Given the description of an element on the screen output the (x, y) to click on. 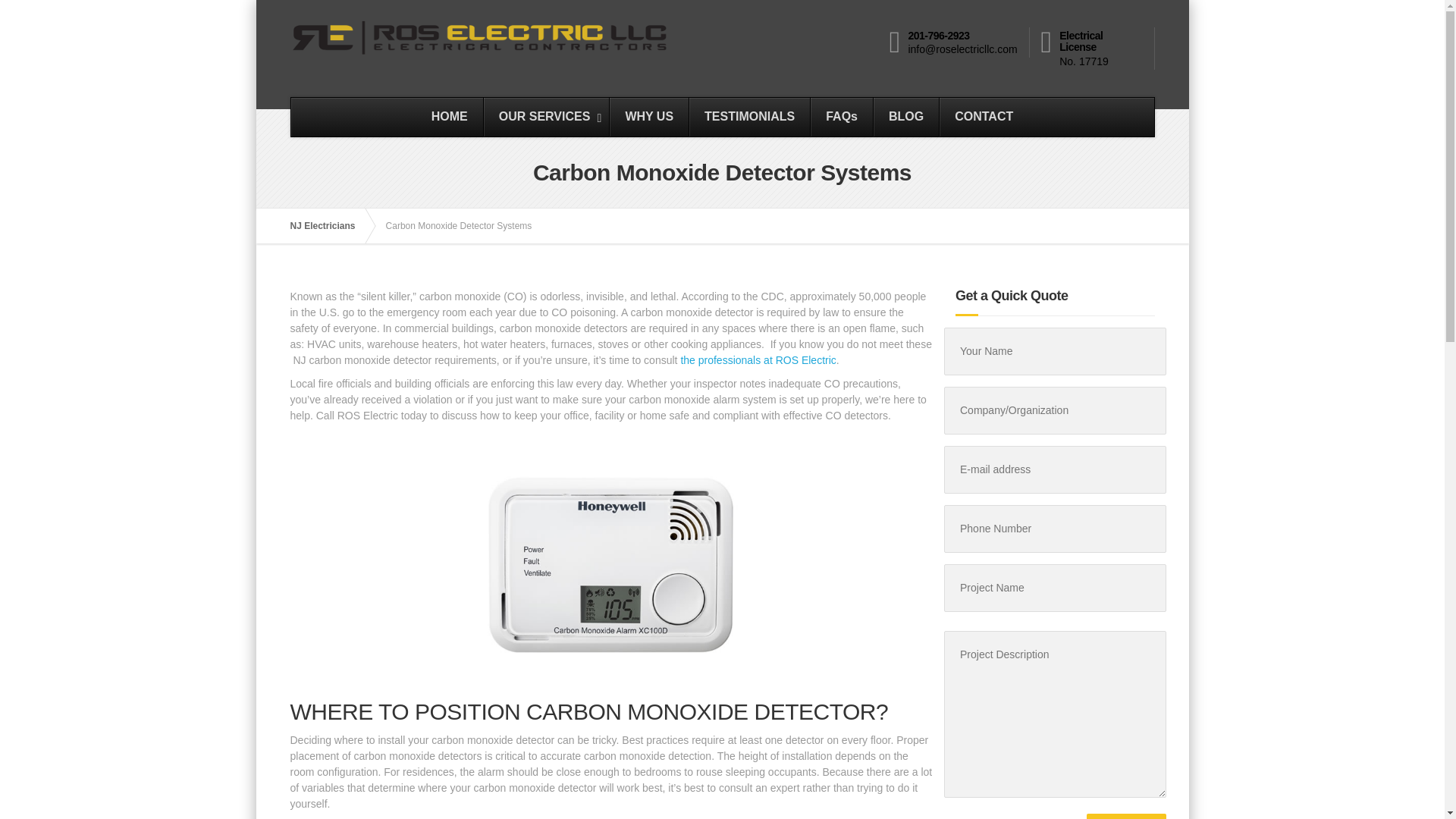
OUR SERVICES (546, 116)
201-796-2923 (938, 35)
CONTACT (983, 116)
Get Quote (1126, 816)
TESTIMONIALS (748, 116)
NJ Electricians (721, 117)
FAQs (329, 225)
WHY US (840, 116)
Go to NJ Electricians. (648, 116)
the professionals at ROS Electric (329, 225)
Get Quote (757, 359)
BLOG (1126, 816)
HOME (905, 116)
